Given the description of an element on the screen output the (x, y) to click on. 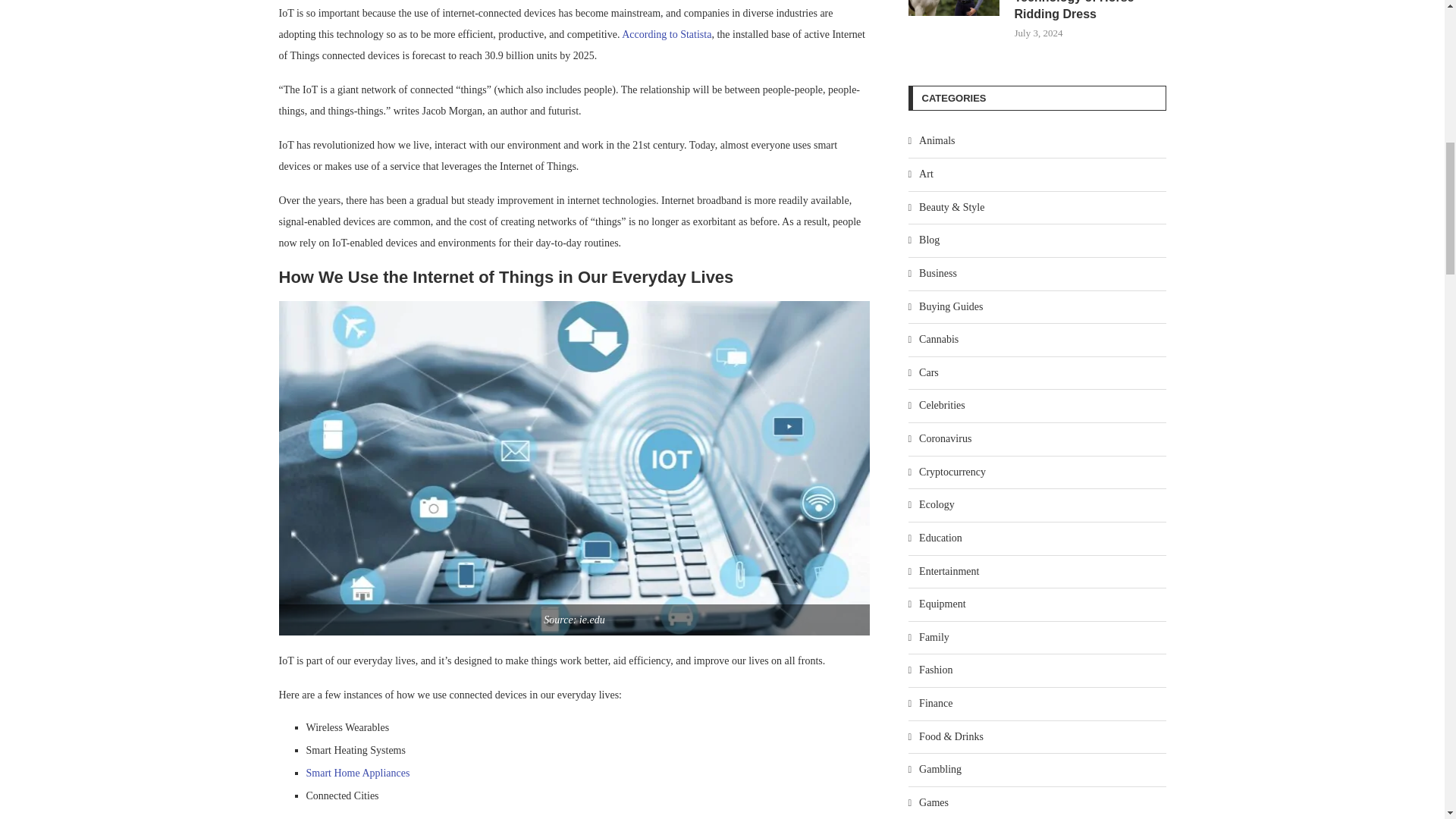
Smart Home Appliances (357, 772)
According to Statista (666, 34)
